Given the description of an element on the screen output the (x, y) to click on. 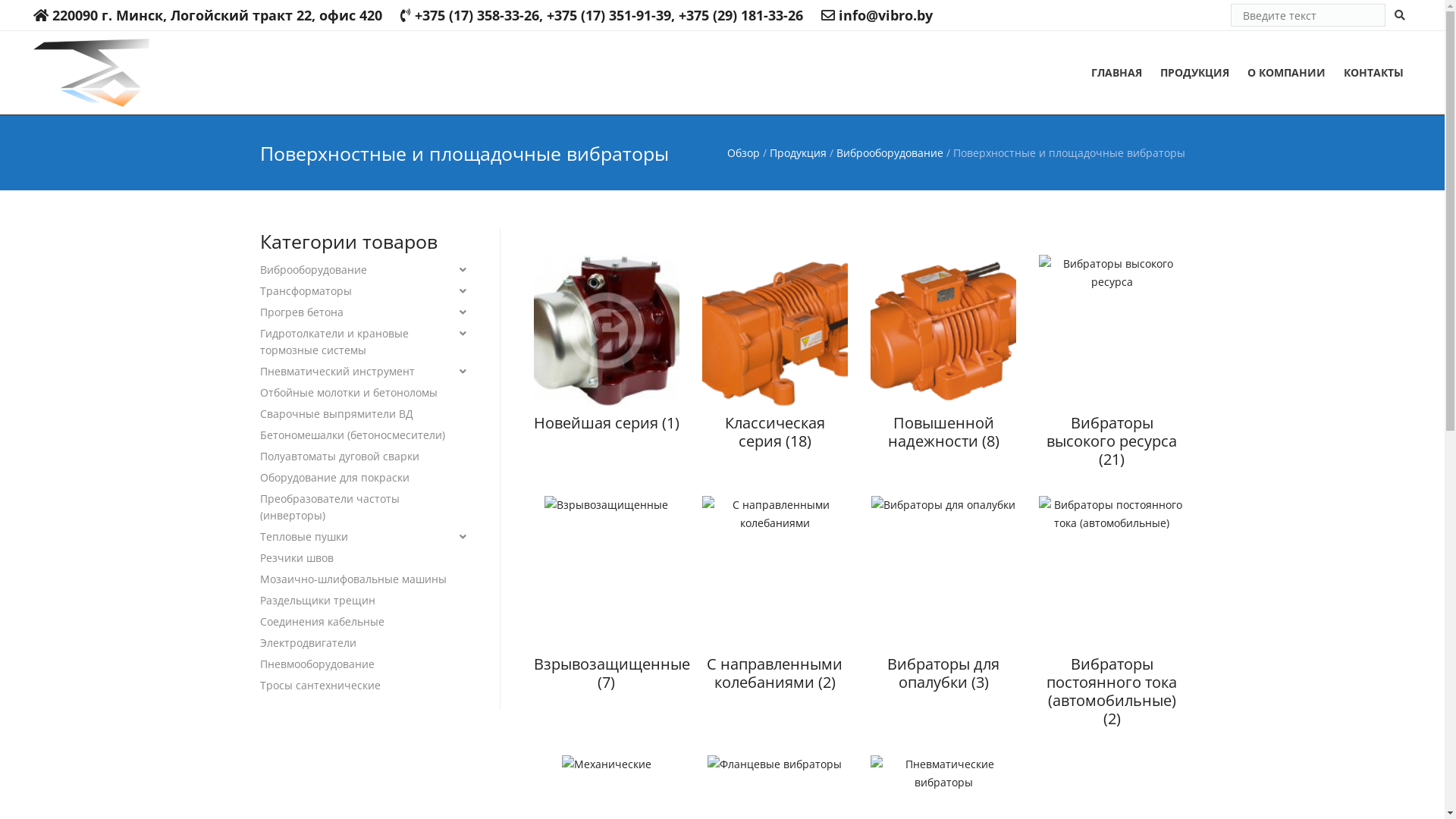
info@vibro.by Element type: text (885, 15)
+375 (29) 181-33-26 Element type: text (740, 15)
+375 (17) 351-91-39 Element type: text (608, 15)
+375 (17) 358-33-26 Element type: text (476, 15)
